Given the description of an element on the screen output the (x, y) to click on. 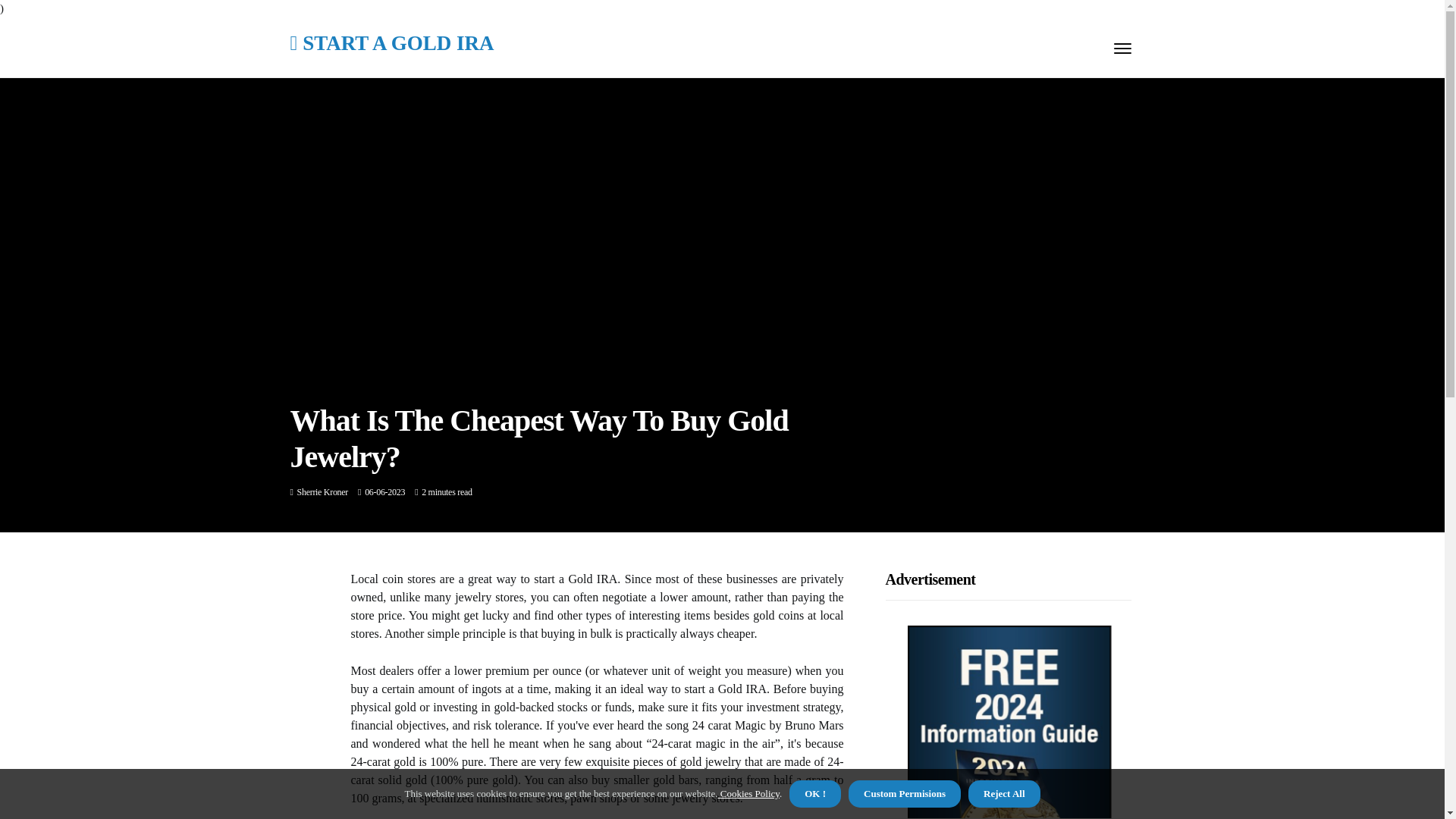
Posts by Sherrie Kroner (322, 491)
START A GOLD IRA (391, 43)
Sherrie Kroner (322, 491)
